Given the description of an element on the screen output the (x, y) to click on. 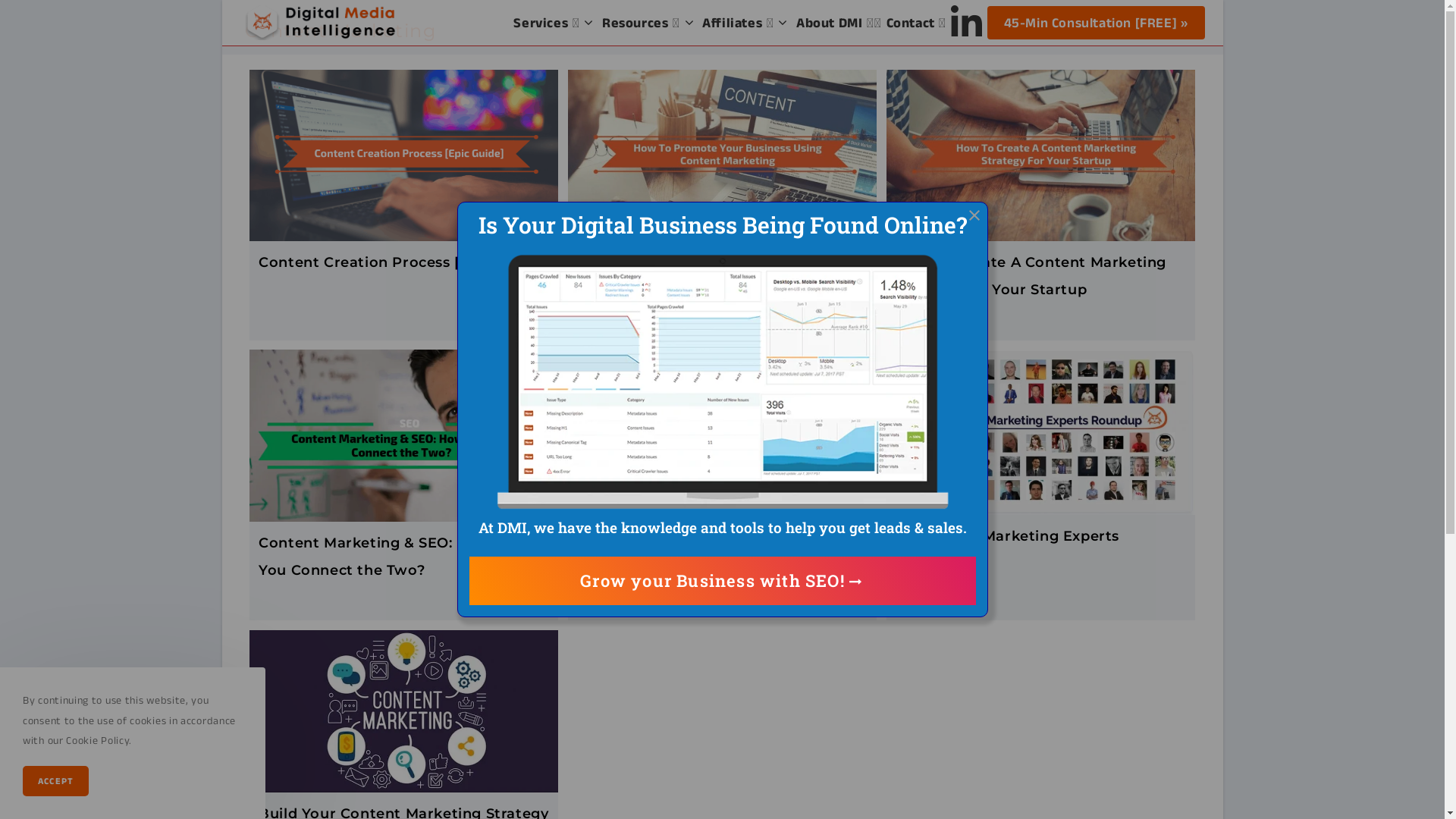
content marketing Element type: text (1156, 30)
ACCEPT Element type: text (55, 780)
Content Creation Process [Epic Guide] Element type: text (400, 262)
Grow your Business with SEO! Element type: text (721, 580)
55 Content Marketing Experts Roundup Element type: text (1007, 549)
How To Promote Your Business Using Content Marketing Element type: text (717, 276)
Close Element type: hover (974, 215)
Content Marketing & SEO: How Can You Connect the Two? Element type: text (391, 556)
Blog Element type: text (1086, 30)
How To Create A Content Marketing Strategy For Your Startup Element type: text (1030, 276)
